Given the description of an element on the screen output the (x, y) to click on. 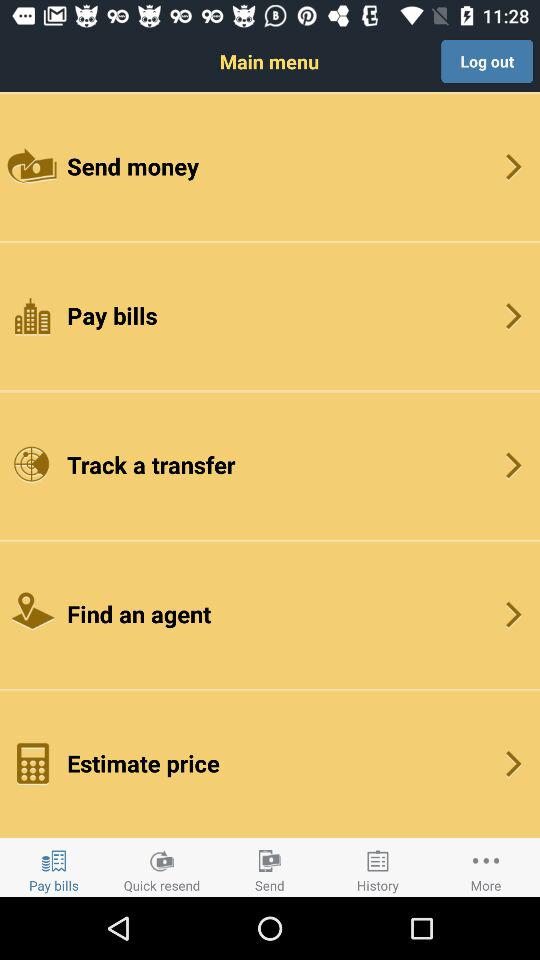
select the estimate price icon (270, 762)
